Given the description of an element on the screen output the (x, y) to click on. 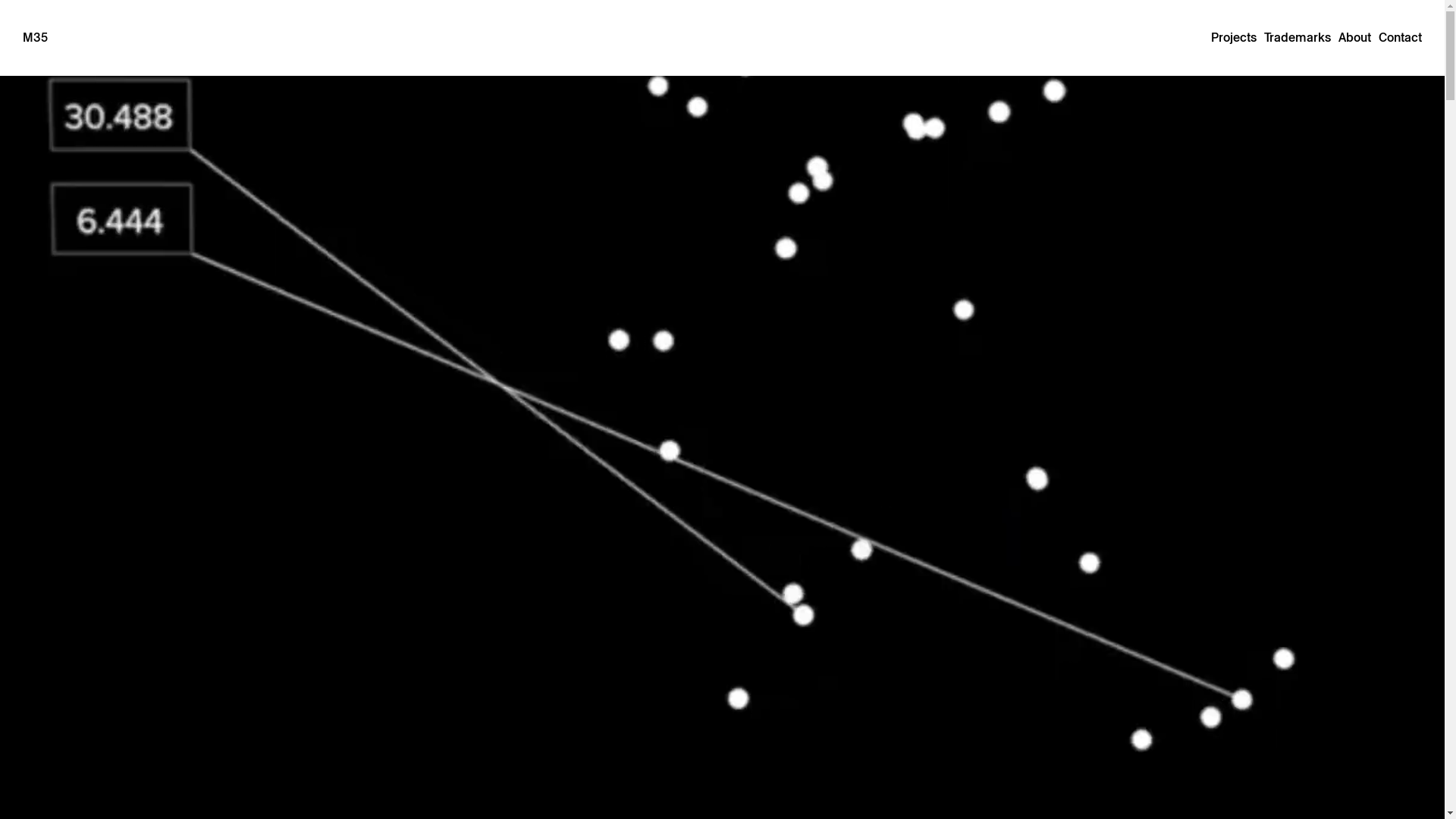
About Element type: text (1354, 37)
Contact Element type: text (1399, 37)
Trademarks Element type: text (1297, 37)
Projects Element type: text (1233, 37)
M35 Element type: text (34, 37)
